Given the description of an element on the screen output the (x, y) to click on. 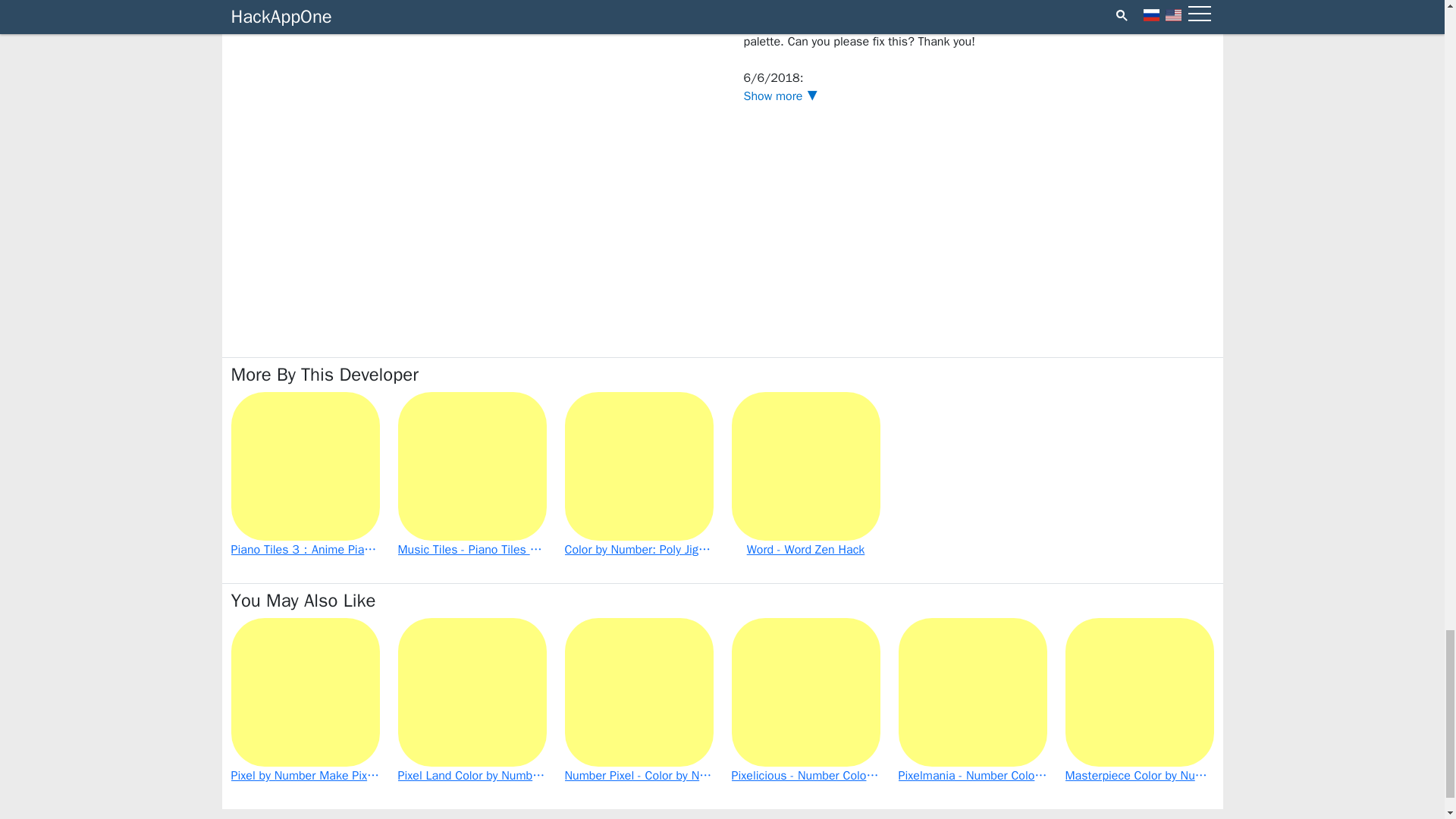
Music Tiles - Piano Tiles Go Hack (471, 475)
Word - Word Zen Hack (805, 475)
Pixel Land Color by Number art Hack (471, 701)
Pixelicious - Number Coloring Hack (805, 701)
Pixel by Number Make Pixel Art Hack (304, 701)
Number Pixel - Color by Number Hack (638, 701)
Color by Number: Poly Jigsaw Hack (638, 475)
